Given the description of an element on the screen output the (x, y) to click on. 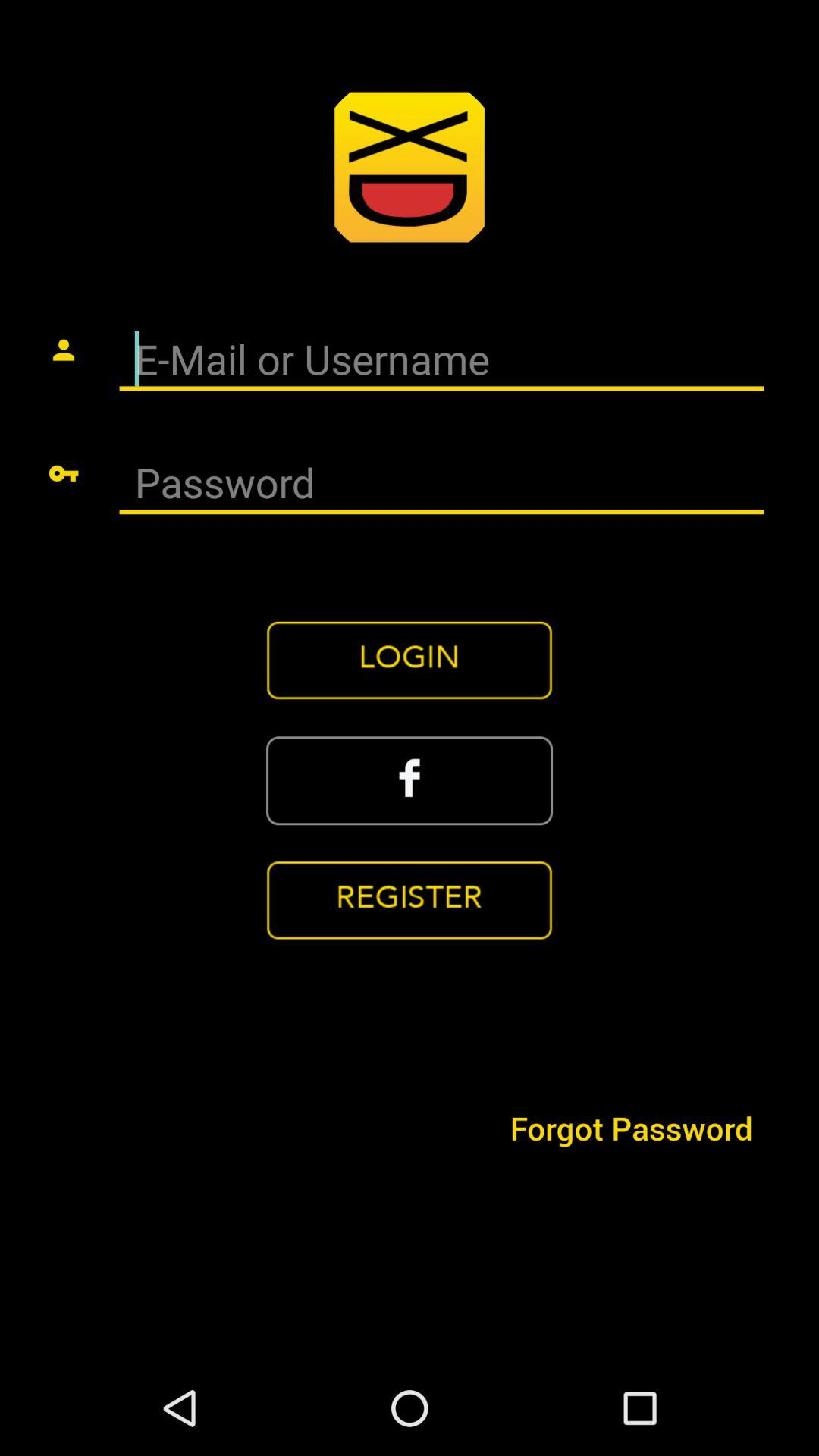
tap item above the forgot password icon (409, 780)
